Given the description of an element on the screen output the (x, y) to click on. 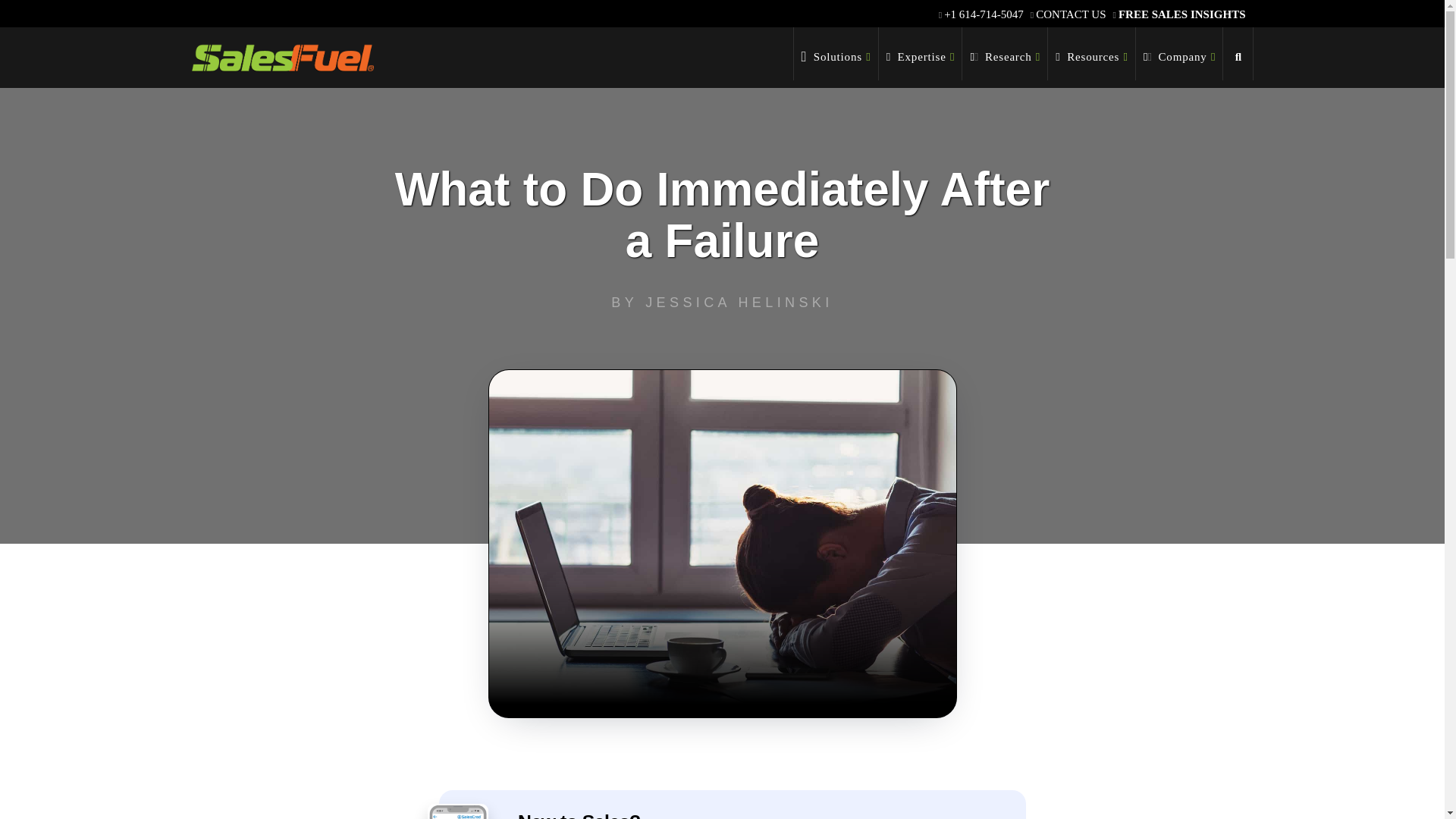
Expertise (920, 53)
Solutions (836, 53)
Research (1005, 53)
Company (1179, 53)
FREE SALES INSIGHTS (1182, 14)
CONTACT US (1070, 14)
Resources (1091, 53)
